Given the description of an element on the screen output the (x, y) to click on. 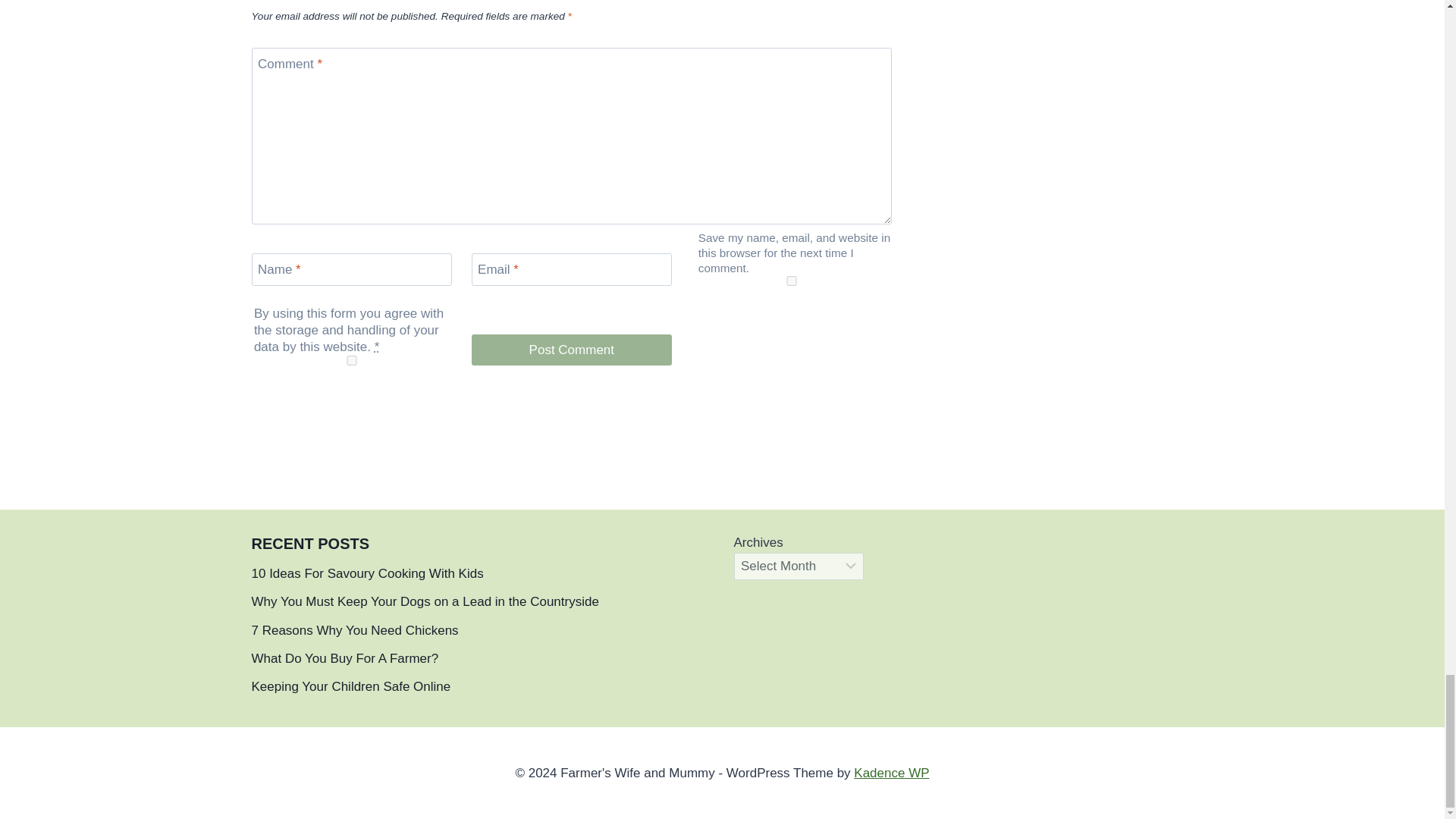
Post Comment (571, 349)
10 Ideas For Savoury Cooking With Kids (367, 573)
1 (351, 360)
Post Comment (571, 349)
yes (791, 280)
